Given the description of an element on the screen output the (x, y) to click on. 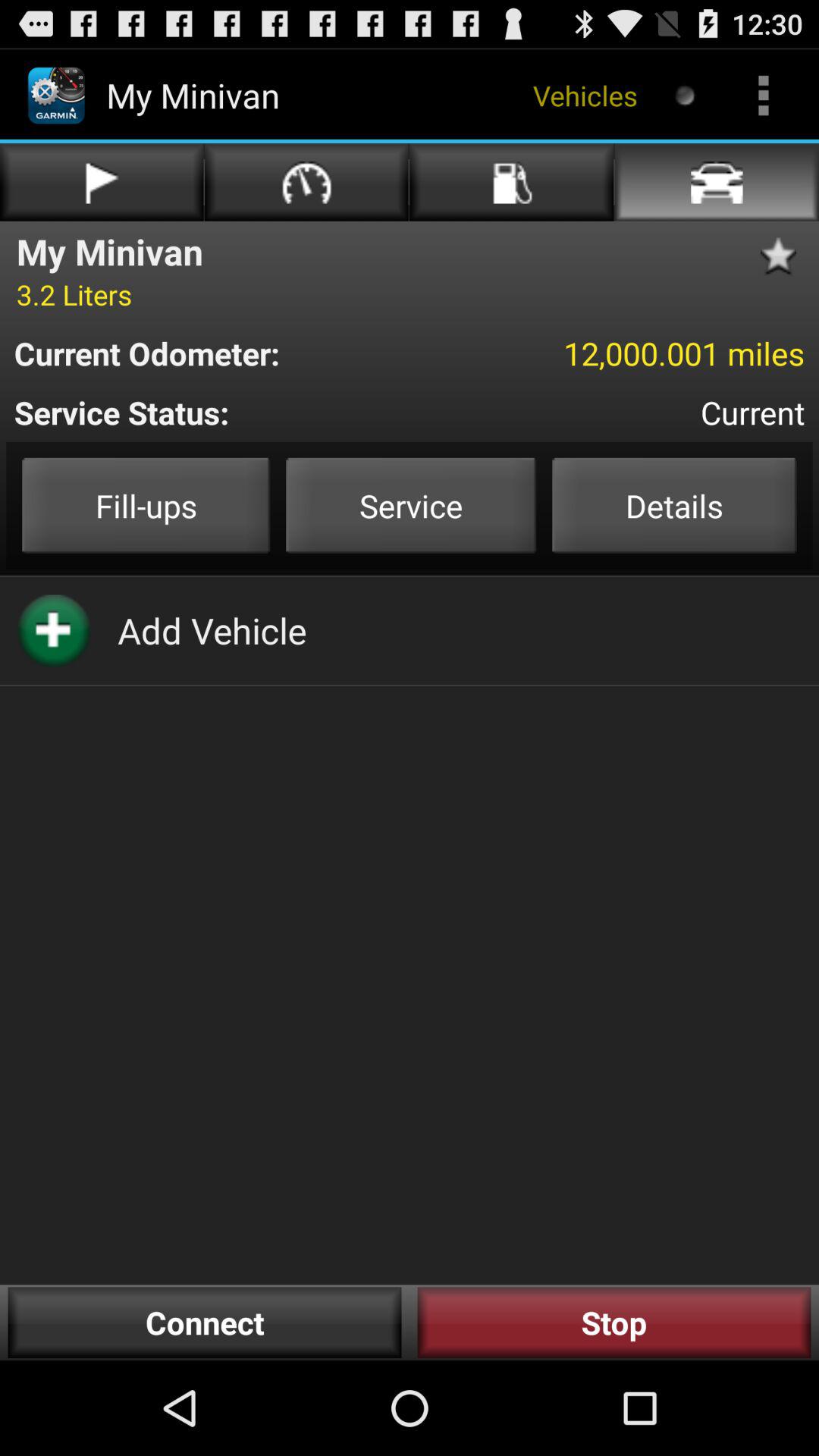
tap button above the connect button (211, 630)
